Given the description of an element on the screen output the (x, y) to click on. 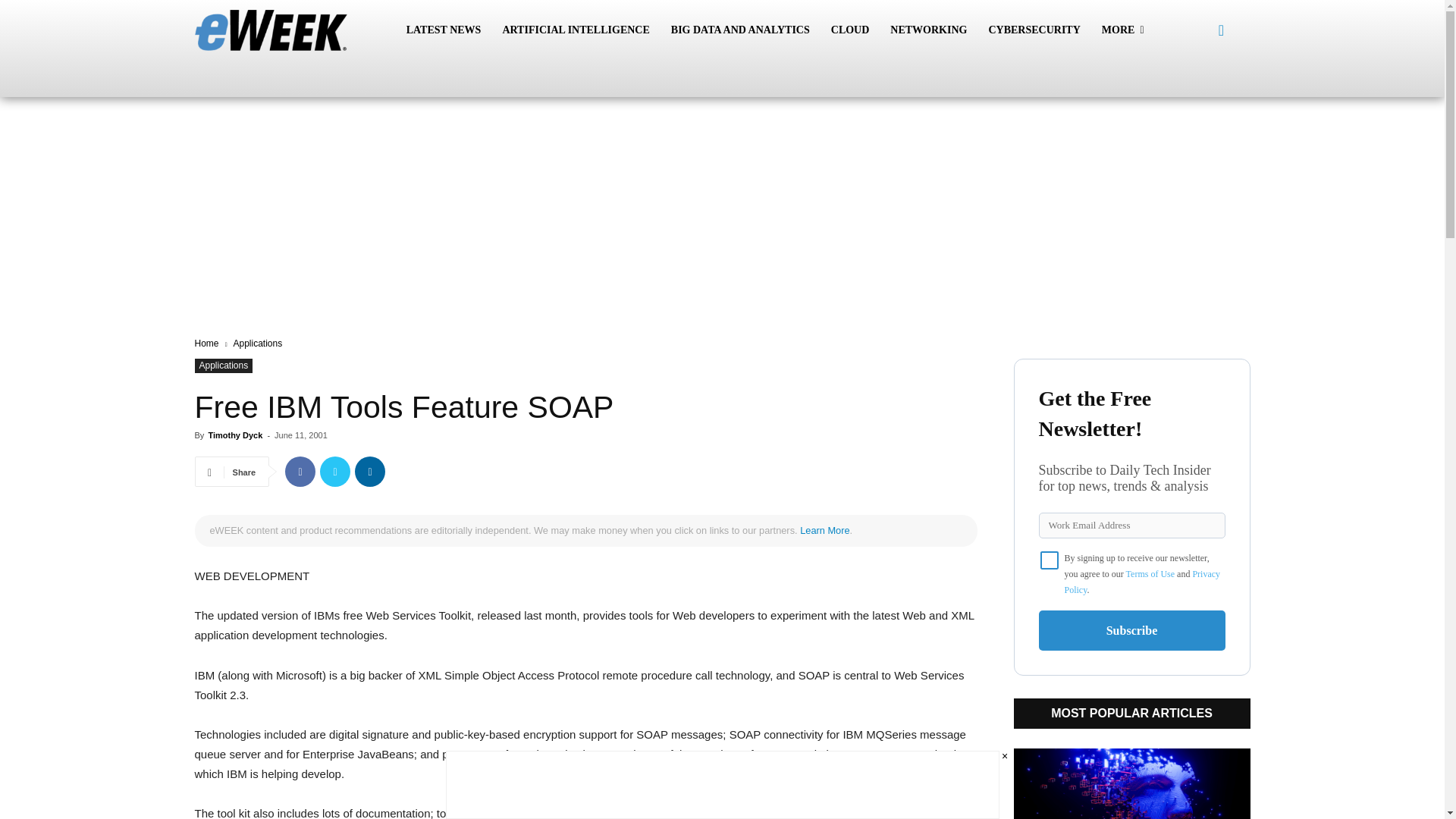
LATEST NEWS (444, 30)
Twitter (335, 471)
Linkedin (370, 471)
CYBERSECURITY (1033, 30)
ARTIFICIAL INTELLIGENCE (575, 30)
on (1049, 560)
Facebook (300, 471)
BIG DATA AND ANALYTICS (741, 30)
CLOUD (850, 30)
NETWORKING (927, 30)
